Given the description of an element on the screen output the (x, y) to click on. 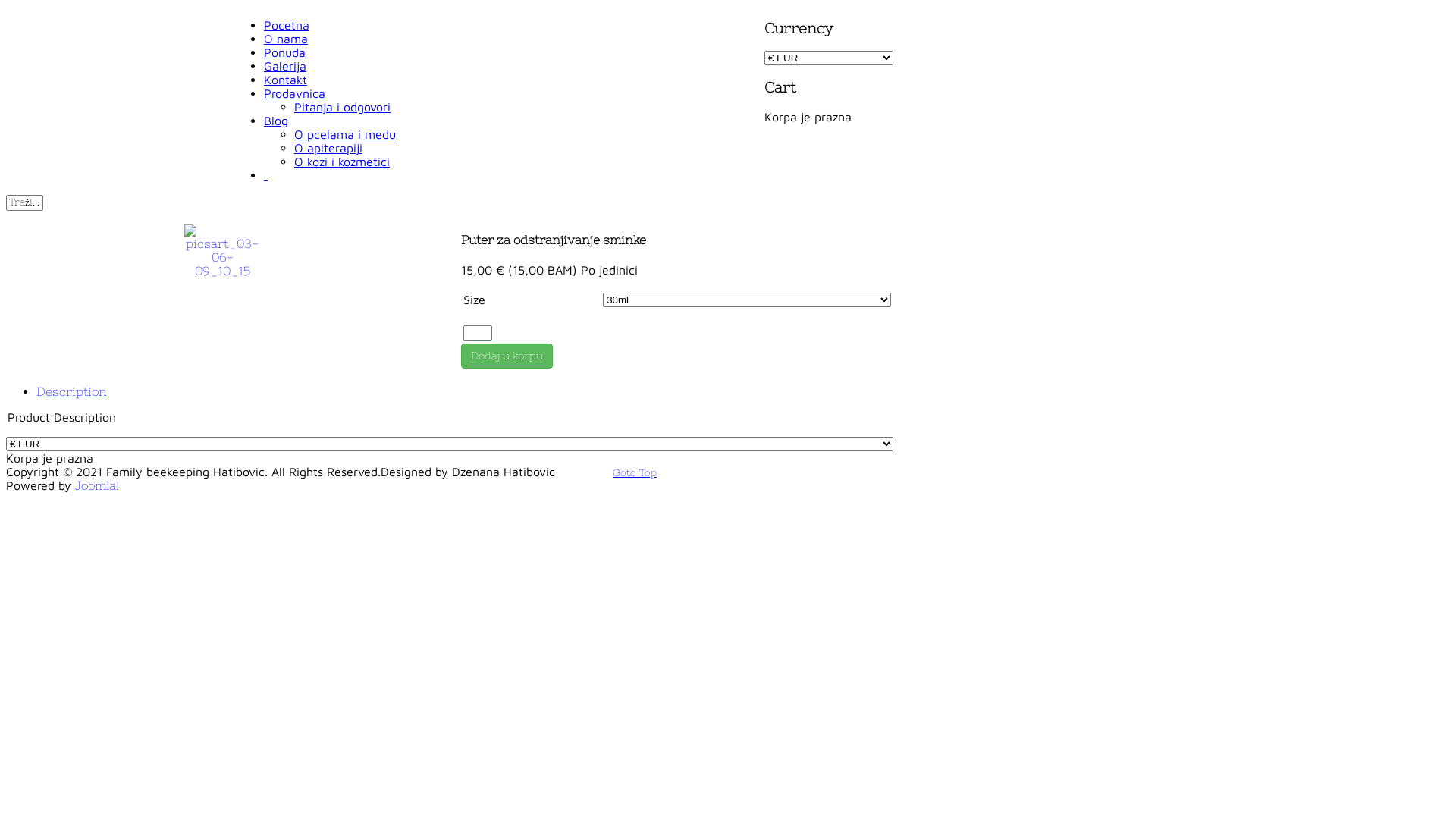
Ponuda Element type: text (284, 52)
Puter za odstranjivanje sminke  Element type: hover (222, 250)
O pcelama i medu Element type: text (344, 134)
O nama Element type: text (285, 38)
Joomla! Element type: text (97, 485)
O apiterapiji Element type: text (328, 147)
  Element type: text (265, 175)
Blog Element type: text (275, 120)
Dodaj u korpu Element type: text (506, 356)
Goto Top Element type: text (634, 471)
Galerija Element type: text (284, 65)
Pocetna Element type: text (286, 24)
O kozi i kozmetici Element type: text (341, 161)
Kontakt Element type: text (285, 79)
Prodavnica Element type: text (294, 93)
Pitanja i odgovori Element type: text (342, 106)
Description Element type: text (71, 391)
